Given the description of an element on the screen output the (x, y) to click on. 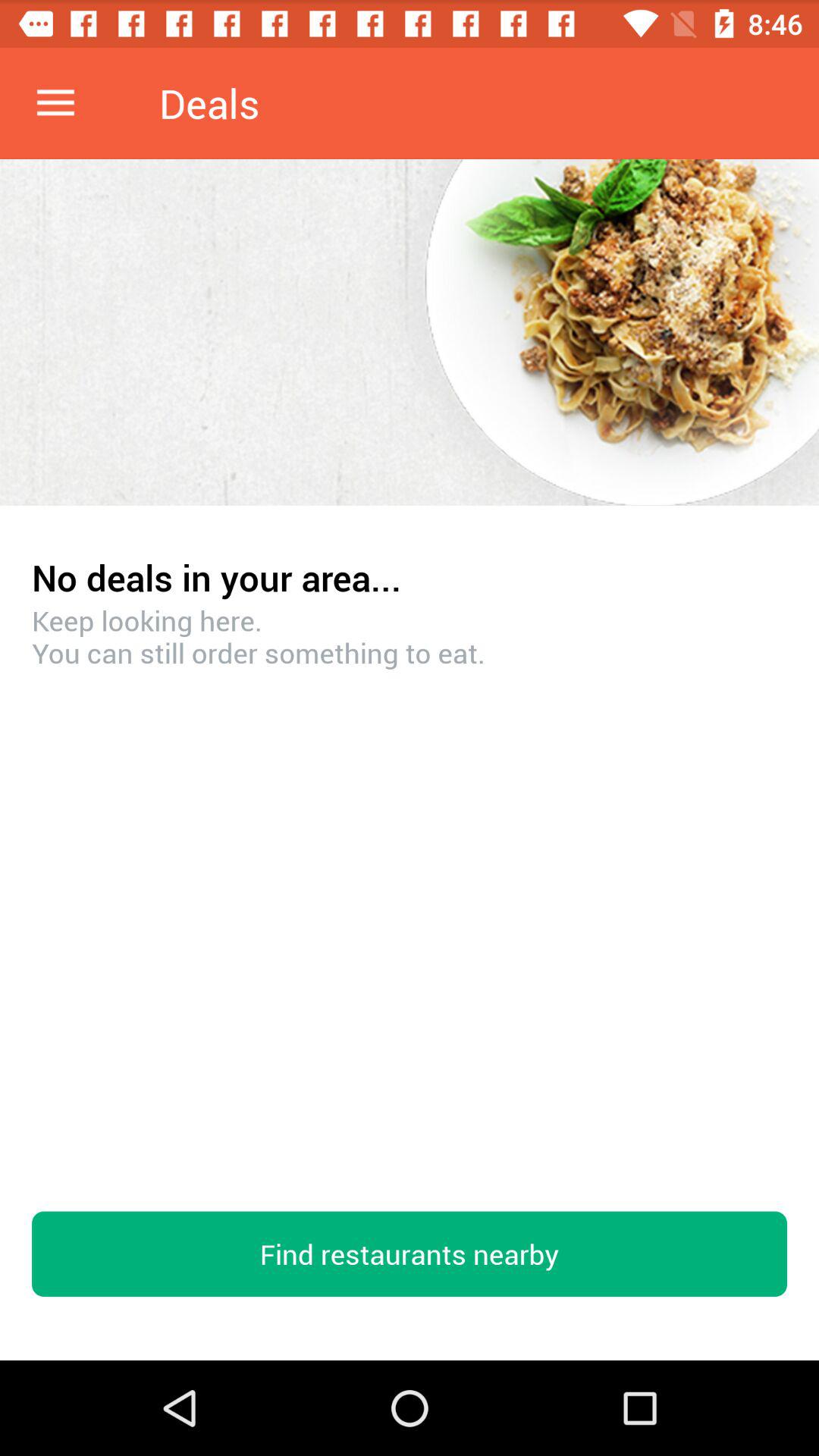
jump to the find restaurants nearby icon (409, 1253)
